Given the description of an element on the screen output the (x, y) to click on. 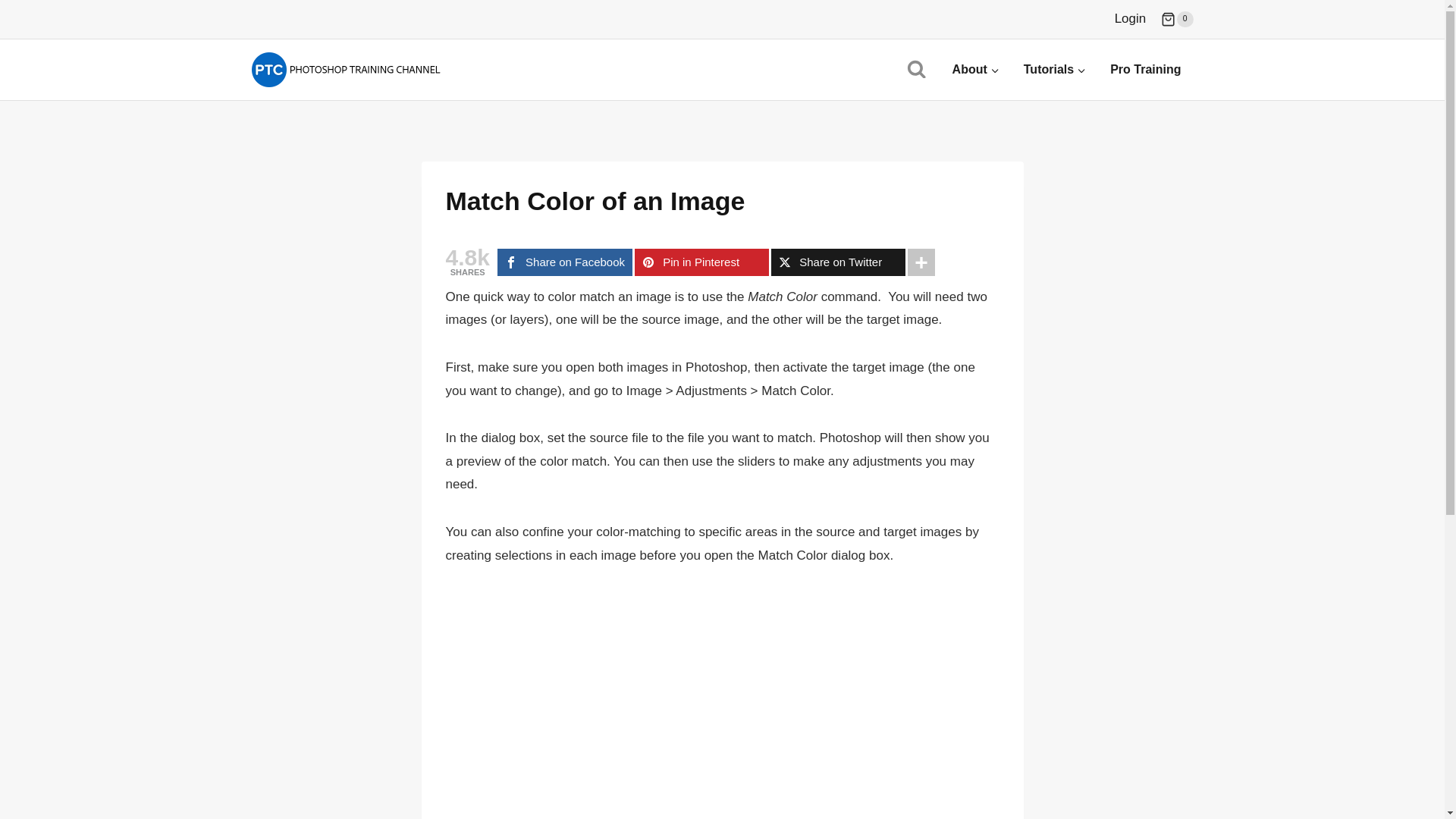
Pin in Pinterest (701, 262)
Tutorials (1054, 69)
About (975, 69)
0 (1176, 19)
All of Our Photoshop Tutorials (1054, 69)
Login (1129, 19)
Share on Twitter (838, 262)
Share on Facebook (564, 262)
Pro Training (1144, 69)
